Given the description of an element on the screen output the (x, y) to click on. 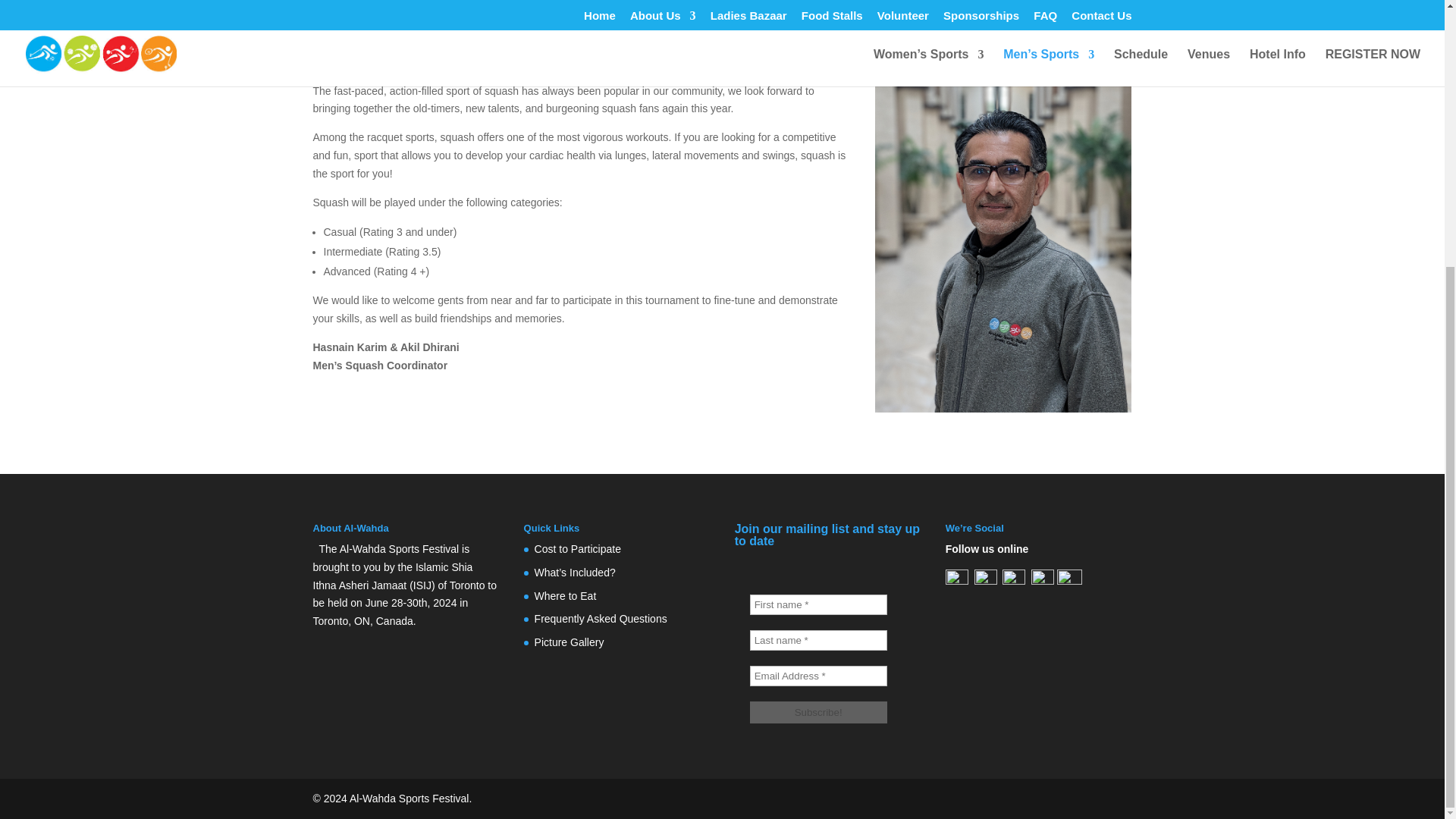
Frequently Asked Questions (600, 618)
First name (817, 604)
Cost to Participate (577, 548)
Subscribe! (817, 712)
Where to Eat (565, 595)
Last name (817, 639)
Email Address (817, 675)
